Given the description of an element on the screen output the (x, y) to click on. 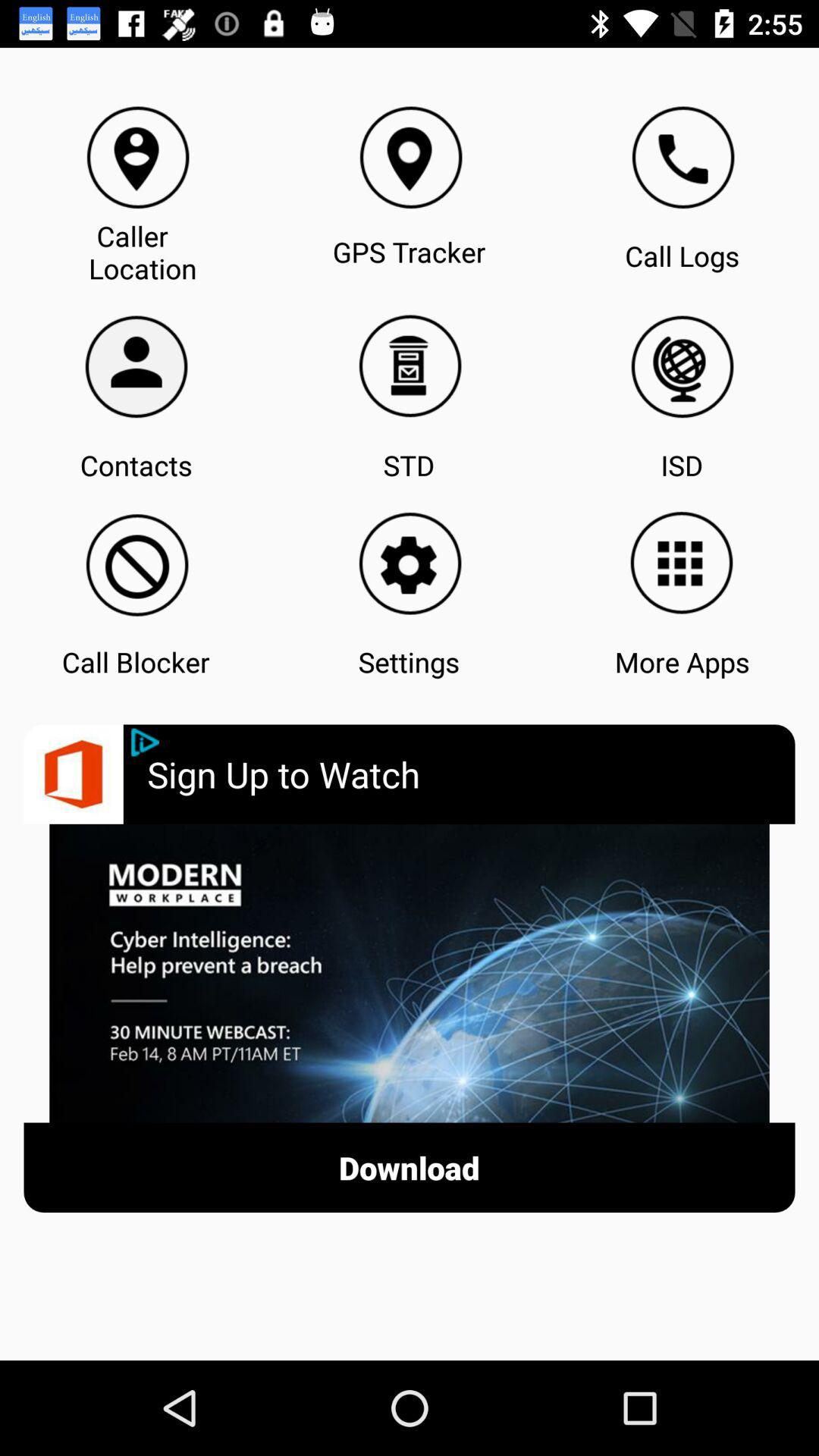
turn off sign up to icon (471, 774)
